Given the description of an element on the screen output the (x, y) to click on. 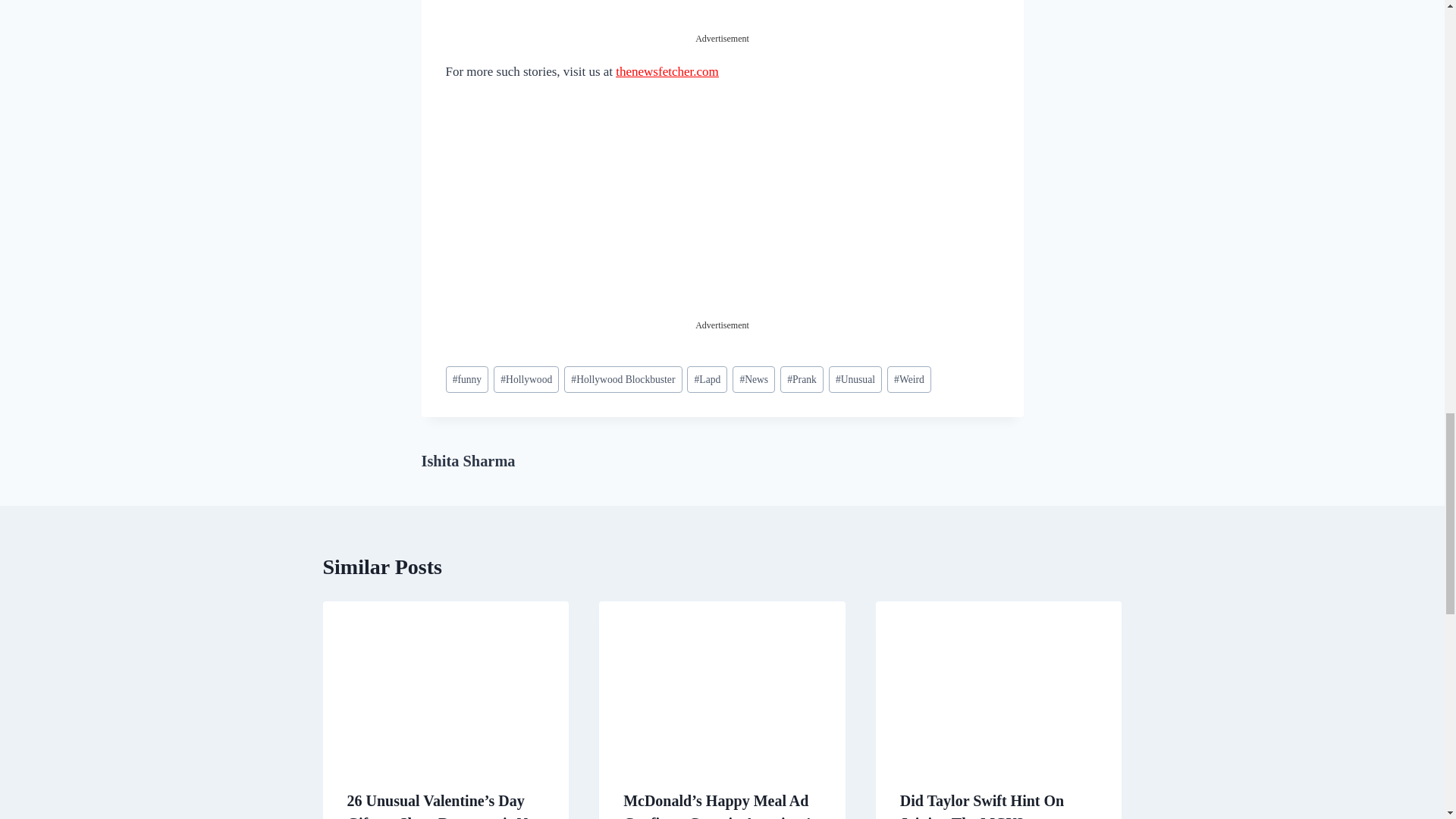
Advertisement (720, 212)
Lapd (706, 379)
Unusual (855, 379)
Posts by Ishita Sharma (468, 460)
News (753, 379)
Prank (802, 379)
Weird (908, 379)
Hollywood (526, 379)
Hollywood Blockbuster (622, 379)
Ishita Sharma (468, 460)
